Given the description of an element on the screen output the (x, y) to click on. 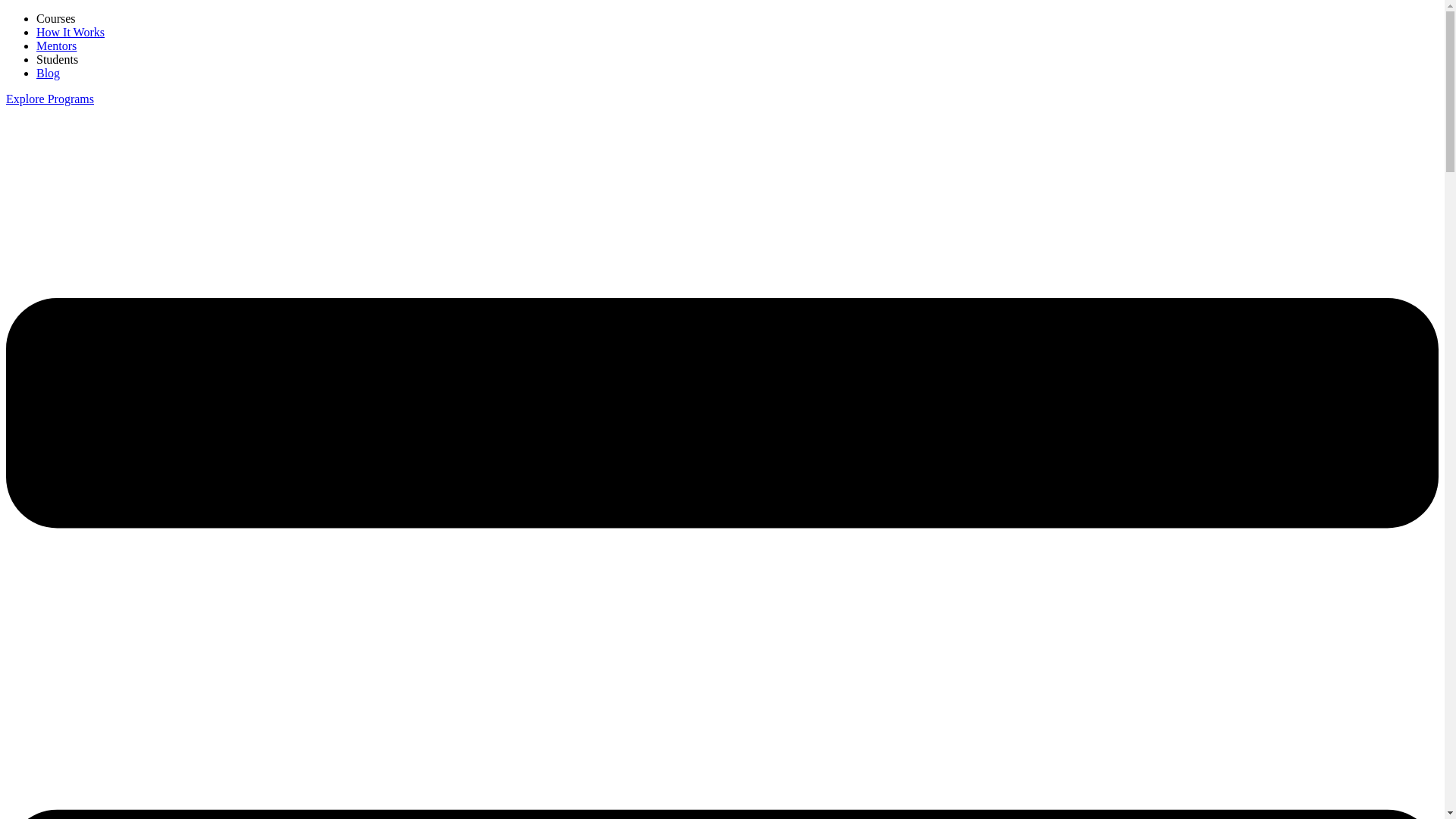
Explore Programs (49, 98)
